Given the description of an element on the screen output the (x, y) to click on. 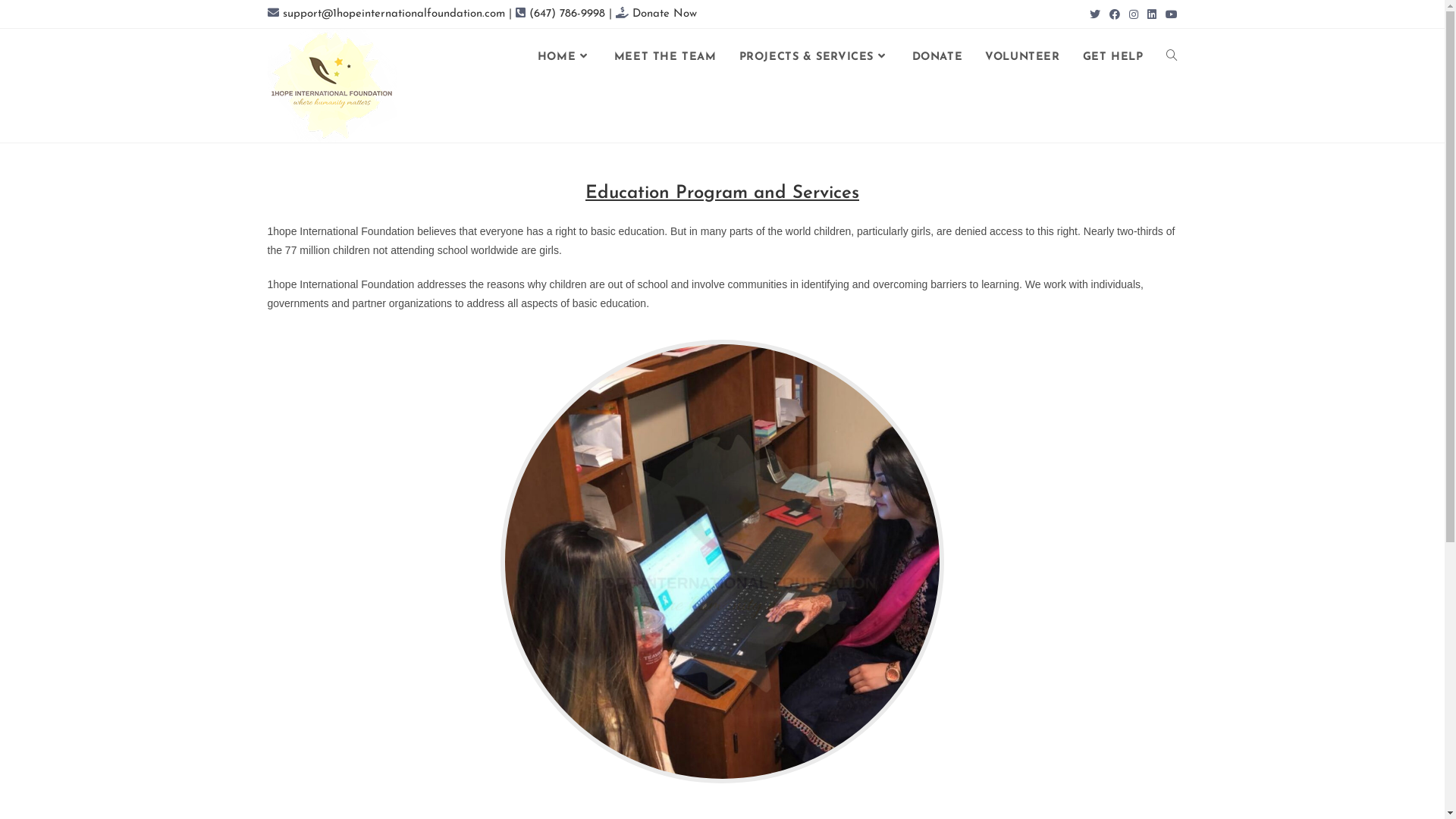
(647) 786-9998 Element type: text (564, 13)
GET HELP Element type: text (1112, 56)
HOME Element type: text (564, 56)
VOLUNTEER Element type: text (1021, 56)
Donate Now Element type: text (661, 13)
DONATE Element type: text (937, 56)
MEET THE TEAM Element type: text (665, 56)
support@1hopeinternationalfoundation.com Element type: text (392, 13)
PROJECTS & SERVICES Element type: text (814, 56)
